Given the description of an element on the screen output the (x, y) to click on. 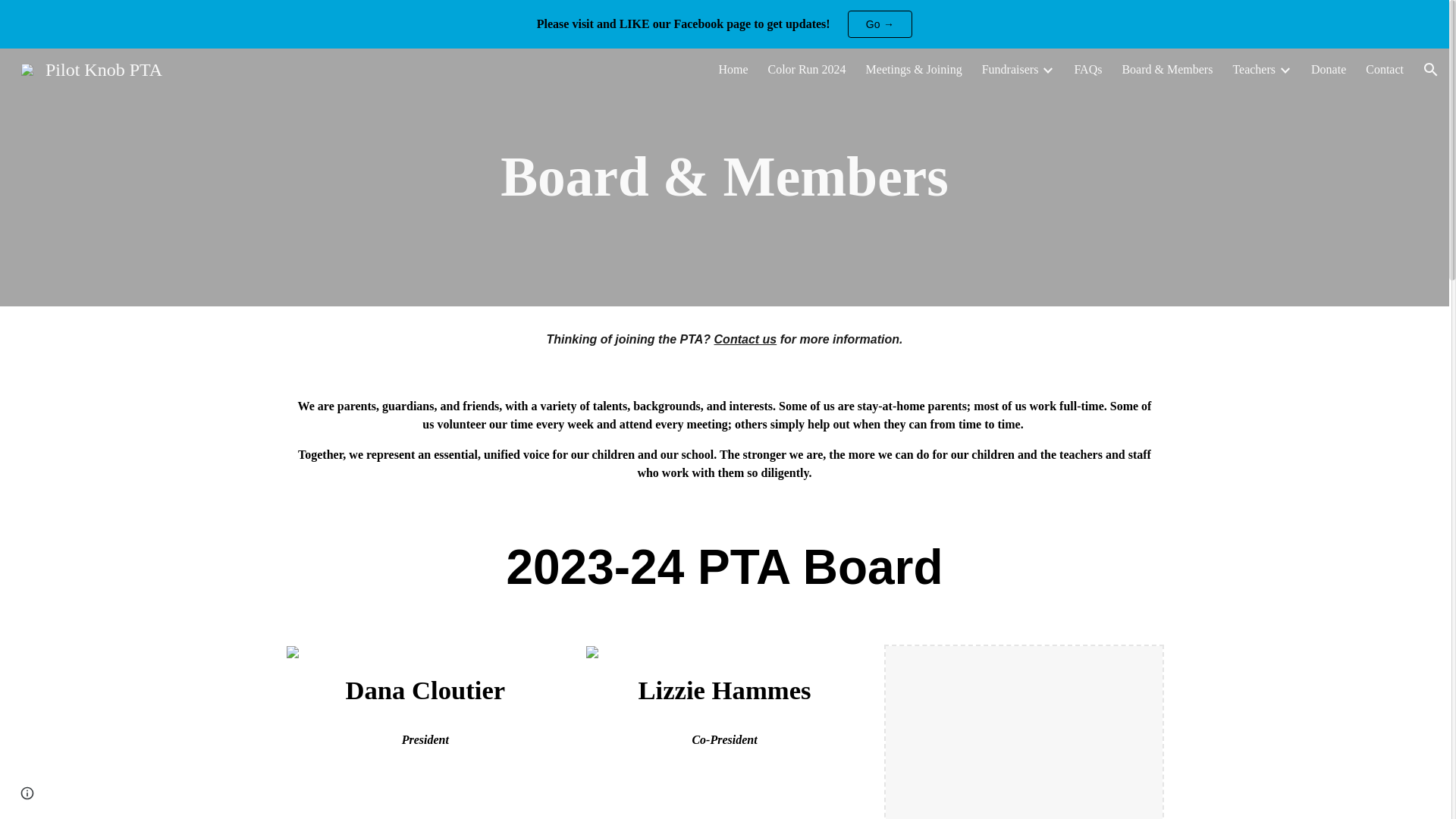
FAQs (1088, 69)
Donate (1328, 69)
Pilot Knob PTA (91, 67)
Teachers (1253, 69)
Contact (1384, 69)
Fundraisers (1010, 69)
Home (732, 69)
Color Run 2024 (806, 69)
